Given the description of an element on the screen output the (x, y) to click on. 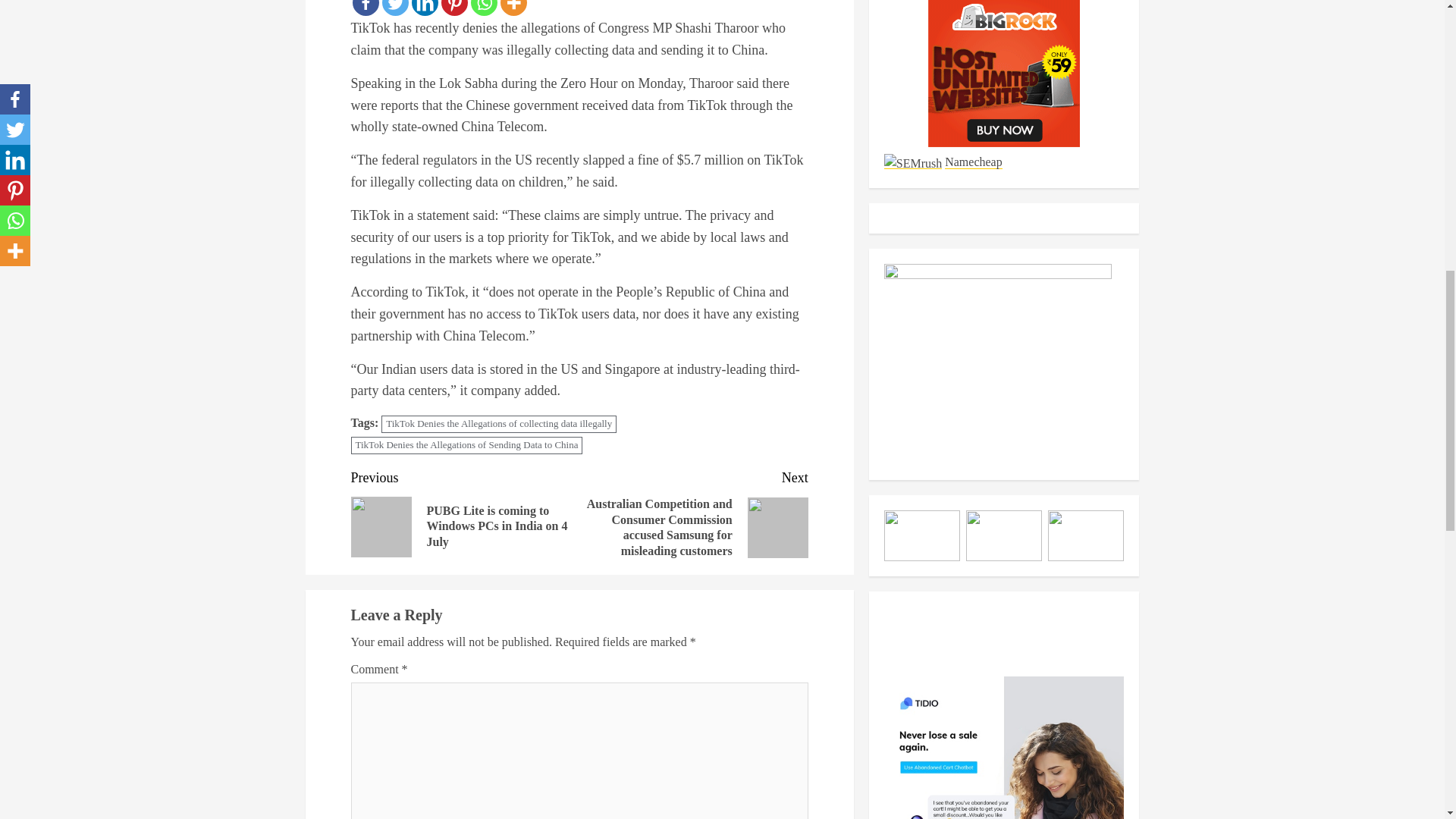
TikTok Denies the Allegations of Sending Data to China (466, 445)
More (513, 7)
Pinterest (454, 7)
Whatsapp (483, 7)
TikTok Denies the Allegations of collecting data illegally (498, 424)
Linkedin (424, 7)
Twitter (395, 7)
Facebook (365, 7)
